Given the description of an element on the screen output the (x, y) to click on. 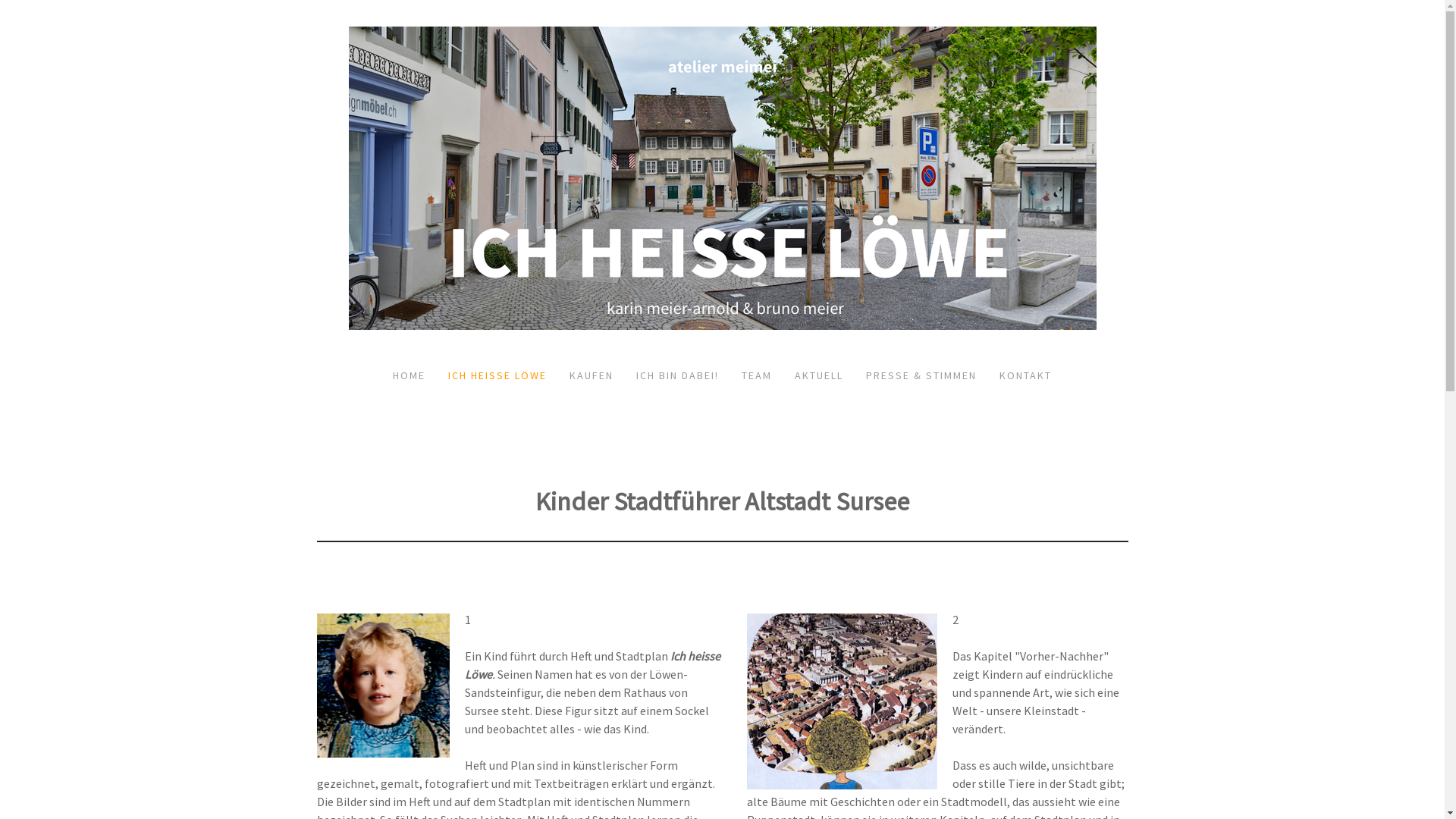
ICH BIN DABEI! Element type: text (677, 375)
HOME Element type: text (408, 375)
AKTUELL Element type: text (818, 375)
PRESSE & STIMMEN Element type: text (921, 375)
KAUFEN Element type: text (591, 375)
TEAM Element type: text (756, 375)
KONTAKT Element type: text (1025, 375)
